Given the description of an element on the screen output the (x, y) to click on. 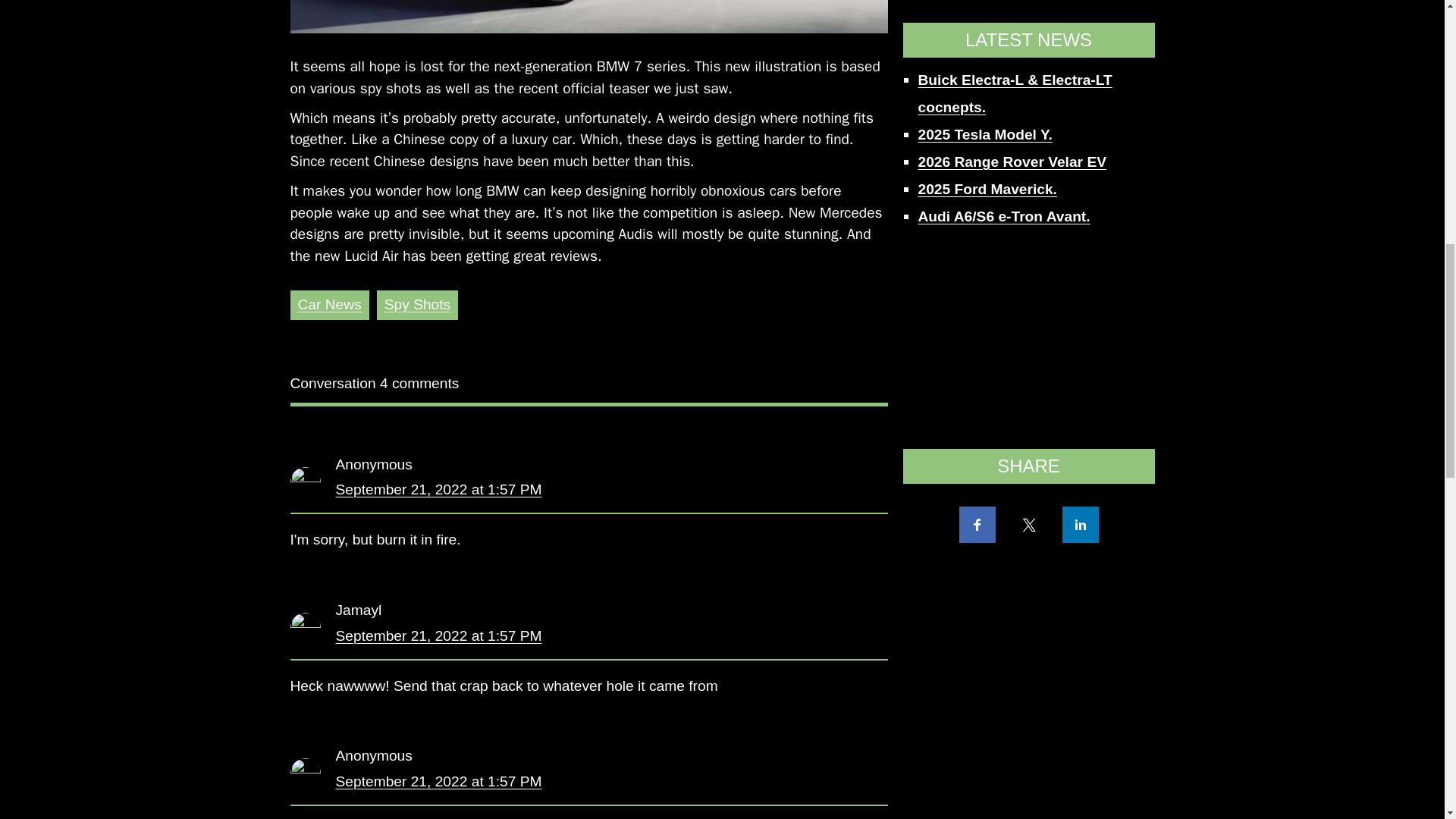
Advertisement (1028, 28)
September 21, 2022 at 1:57 PM (437, 635)
Spy Shots (416, 304)
Car News (329, 304)
September 21, 2022 at 1:57 PM (437, 781)
September 21, 2022 at 1:57 PM (437, 489)
